Given the description of an element on the screen output the (x, y) to click on. 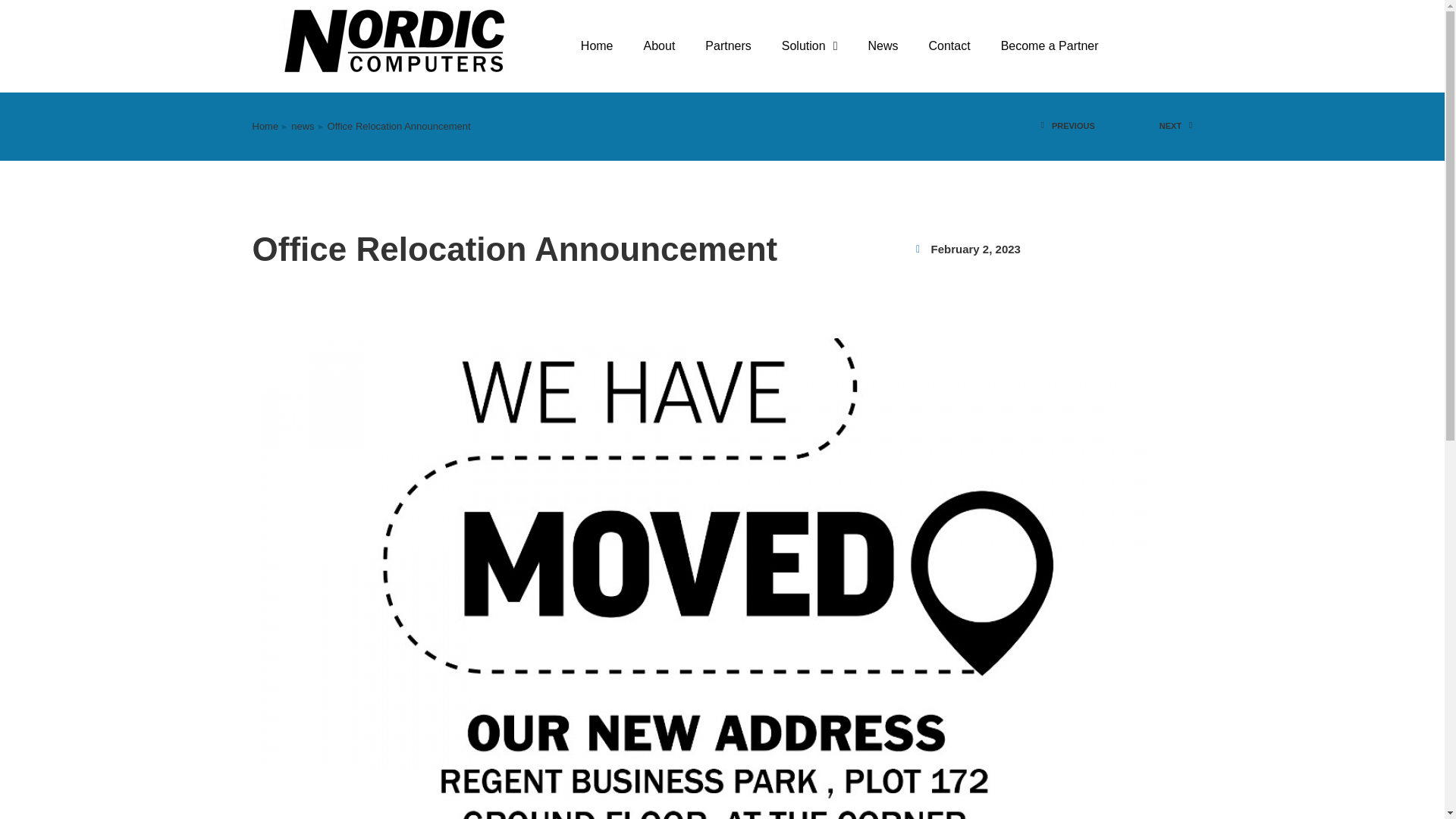
Home (264, 126)
Become a Partner (1049, 46)
PREVIOUS (1078, 126)
news (302, 126)
February 2, 2023 (975, 248)
Partners (727, 46)
NEXT (1154, 126)
Contact (948, 46)
Solution (810, 46)
